Given the description of an element on the screen output the (x, y) to click on. 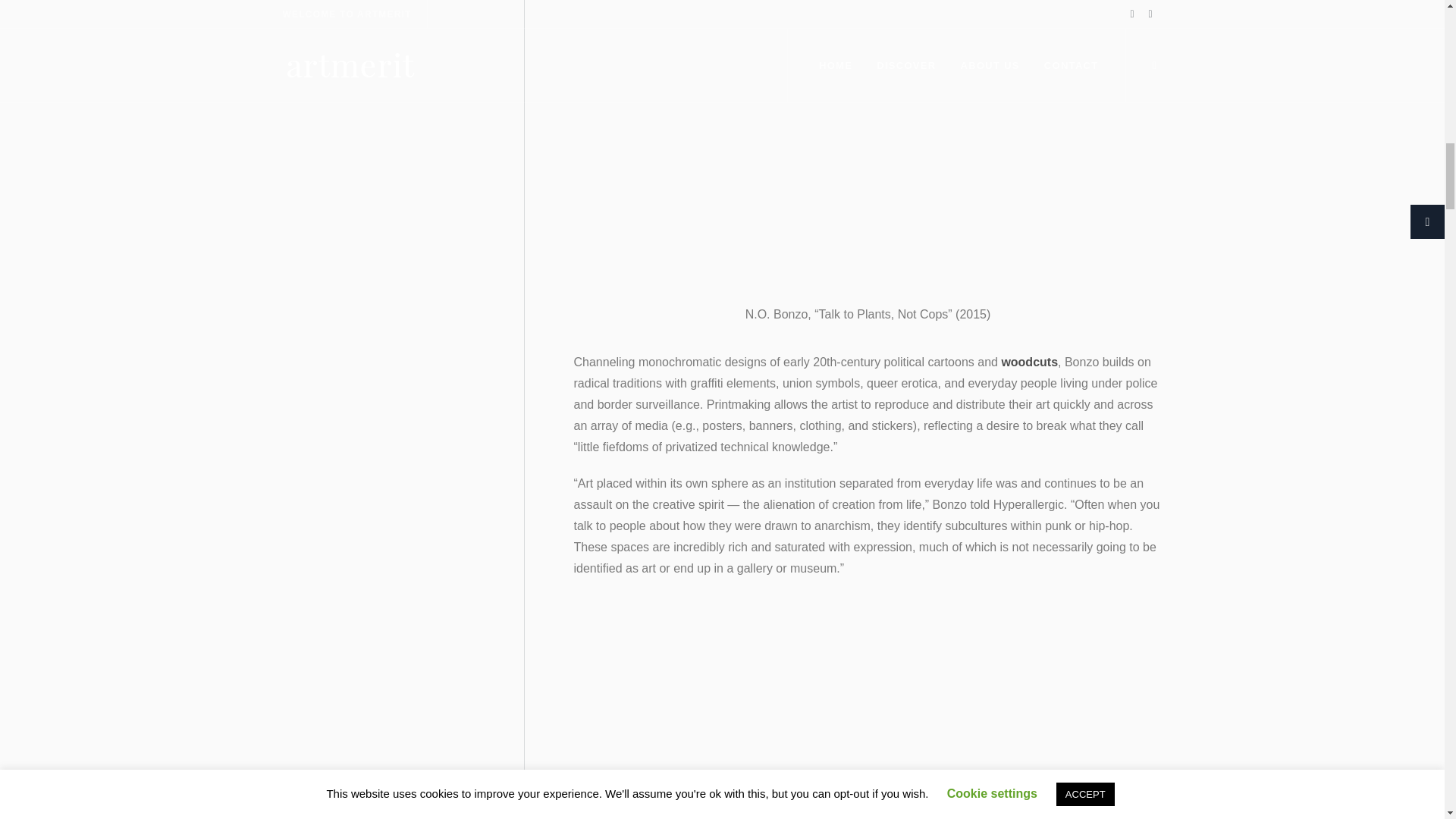
woodcuts (1029, 361)
